Given the description of an element on the screen output the (x, y) to click on. 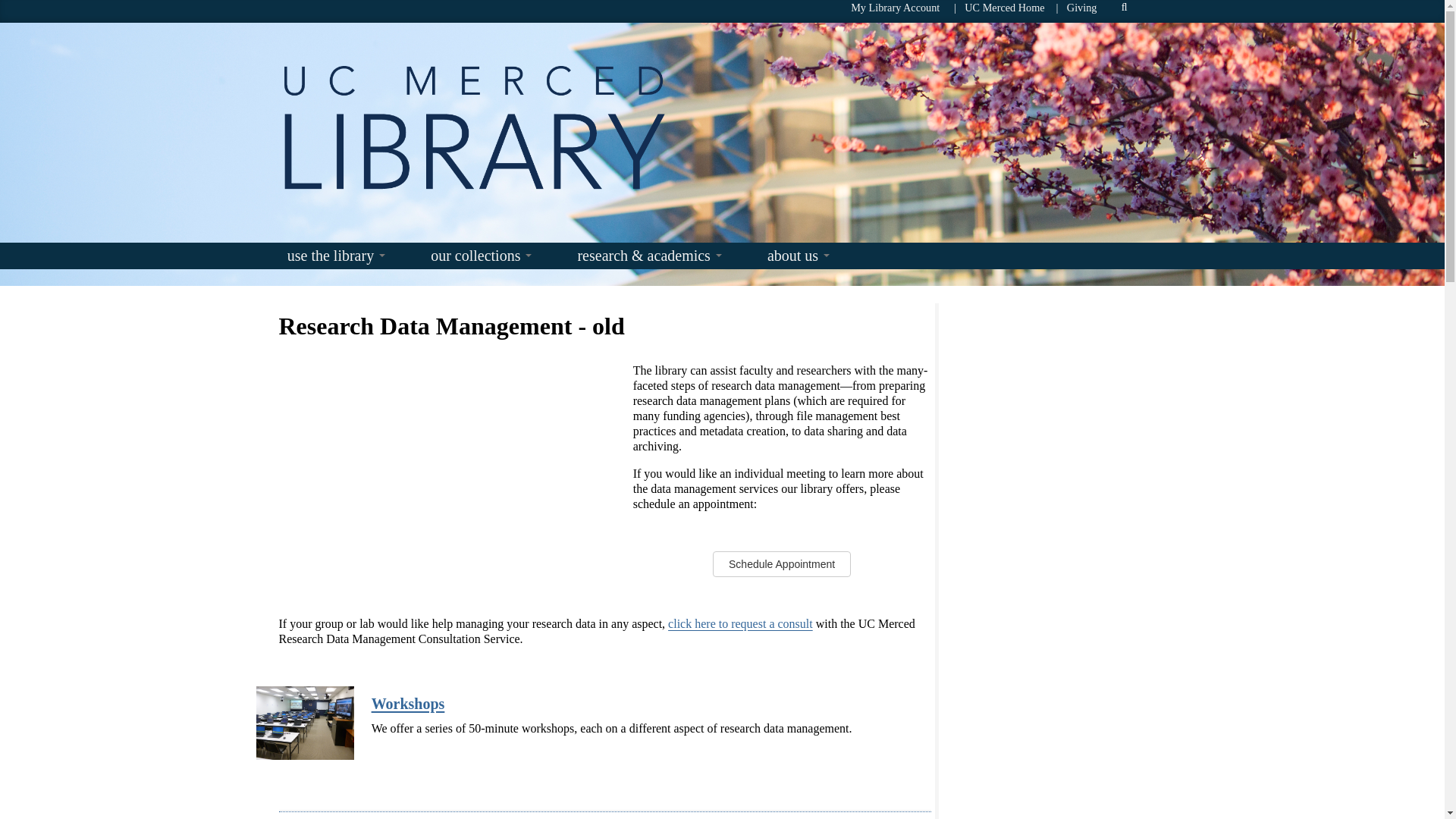
our collections (480, 259)
use the library (335, 259)
My Library Account (894, 7)
Giving (1082, 7)
UC Merced Home (1003, 7)
